Given the description of an element on the screen output the (x, y) to click on. 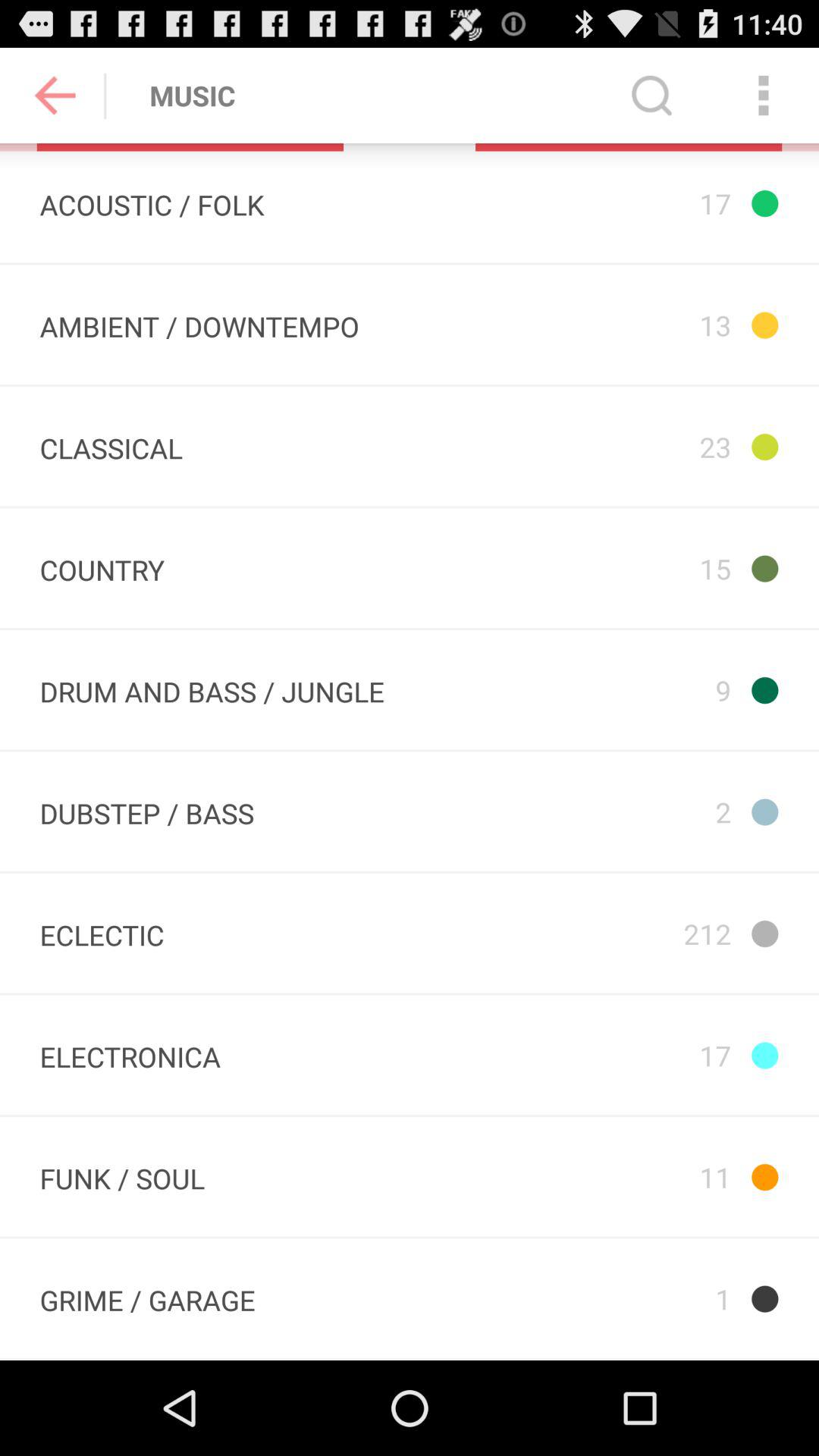
choose the 1 app (627, 1298)
